Given the description of an element on the screen output the (x, y) to click on. 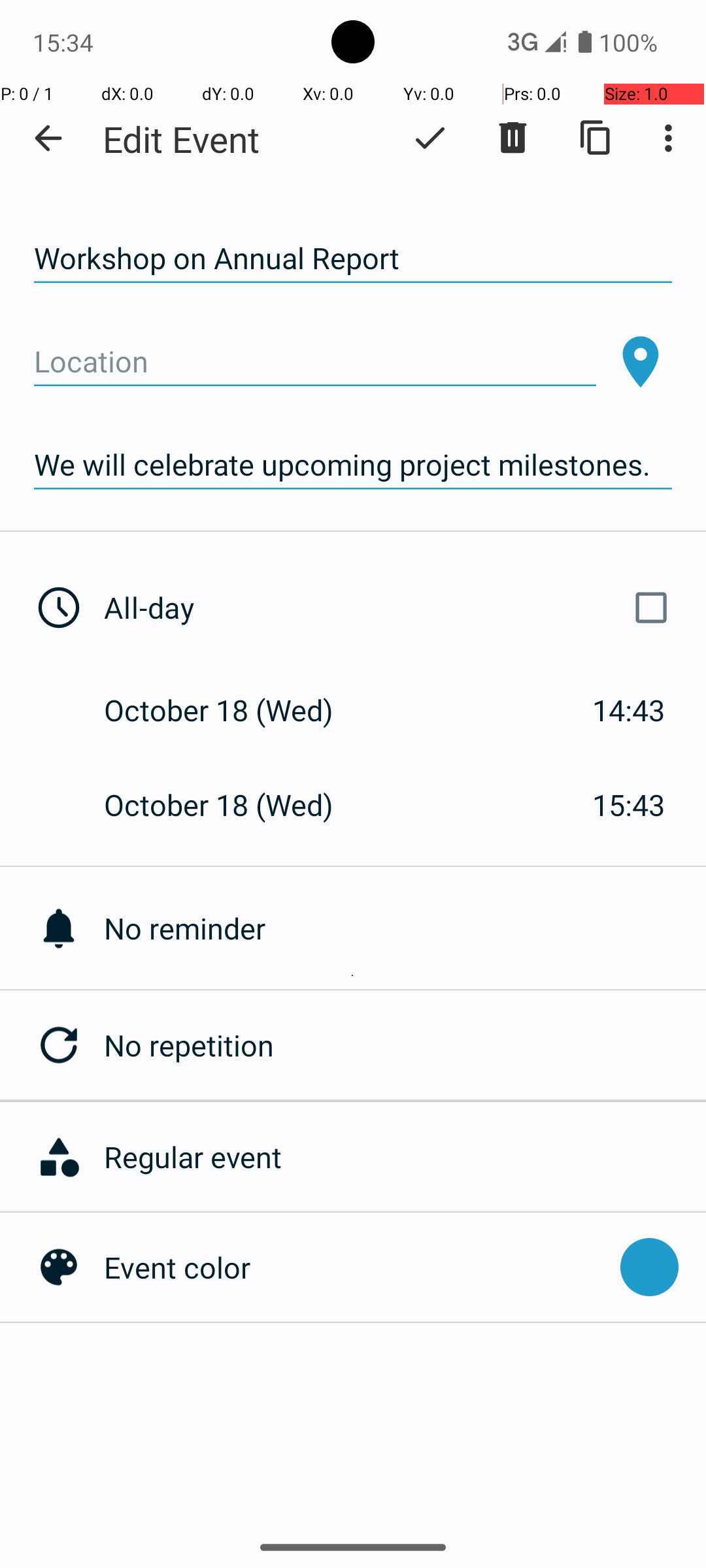
Workshop on Annual Report Element type: android.widget.EditText (352, 258)
We will celebrate upcoming project milestones. Element type: android.widget.EditText (352, 465)
October 18 (Wed) Element type: android.widget.TextView (232, 709)
14:43 Element type: android.widget.TextView (628, 709)
15:43 Element type: android.widget.TextView (628, 804)
